Given the description of an element on the screen output the (x, y) to click on. 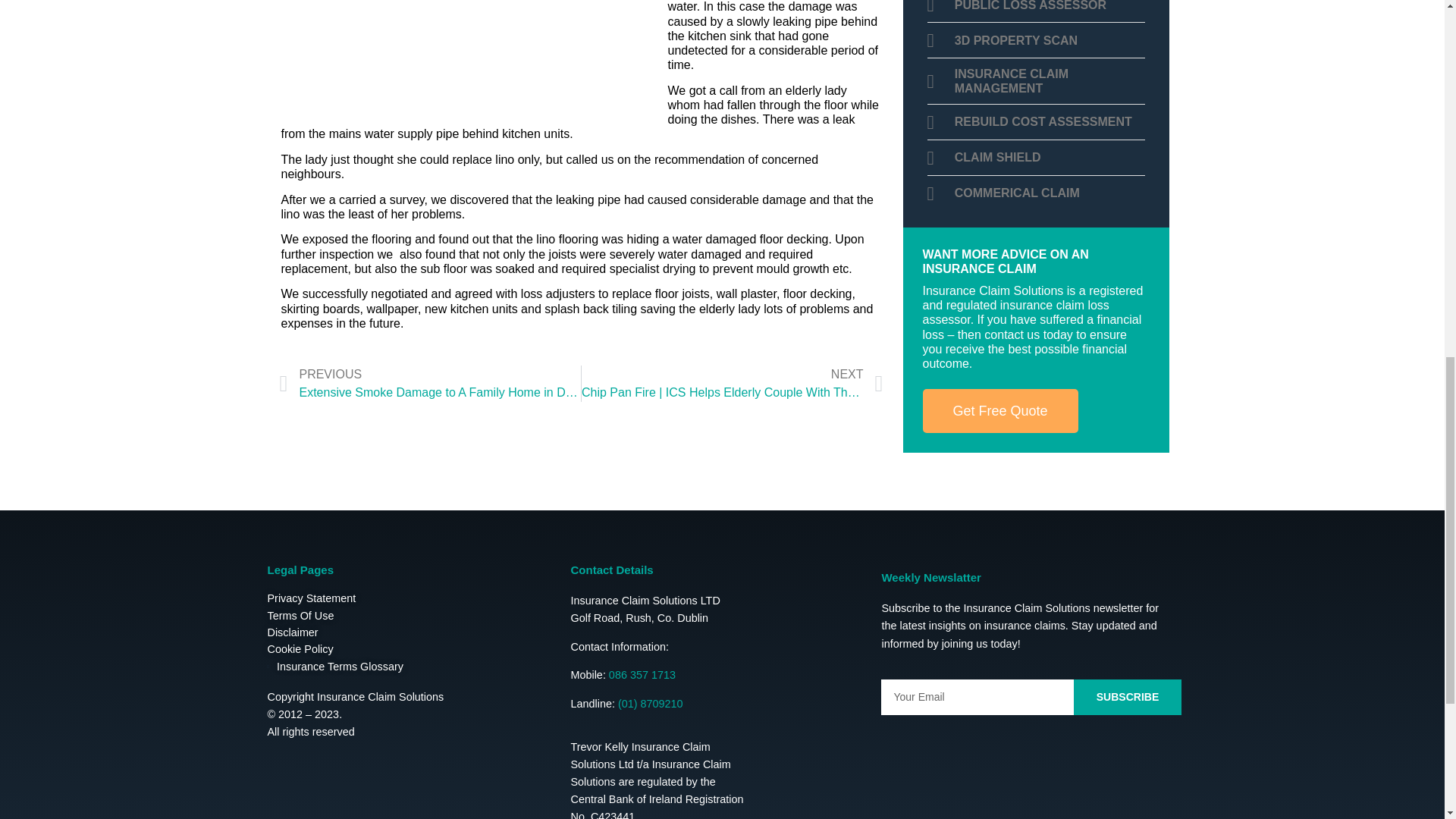
01 8709210 (649, 703)
